Given the description of an element on the screen output the (x, y) to click on. 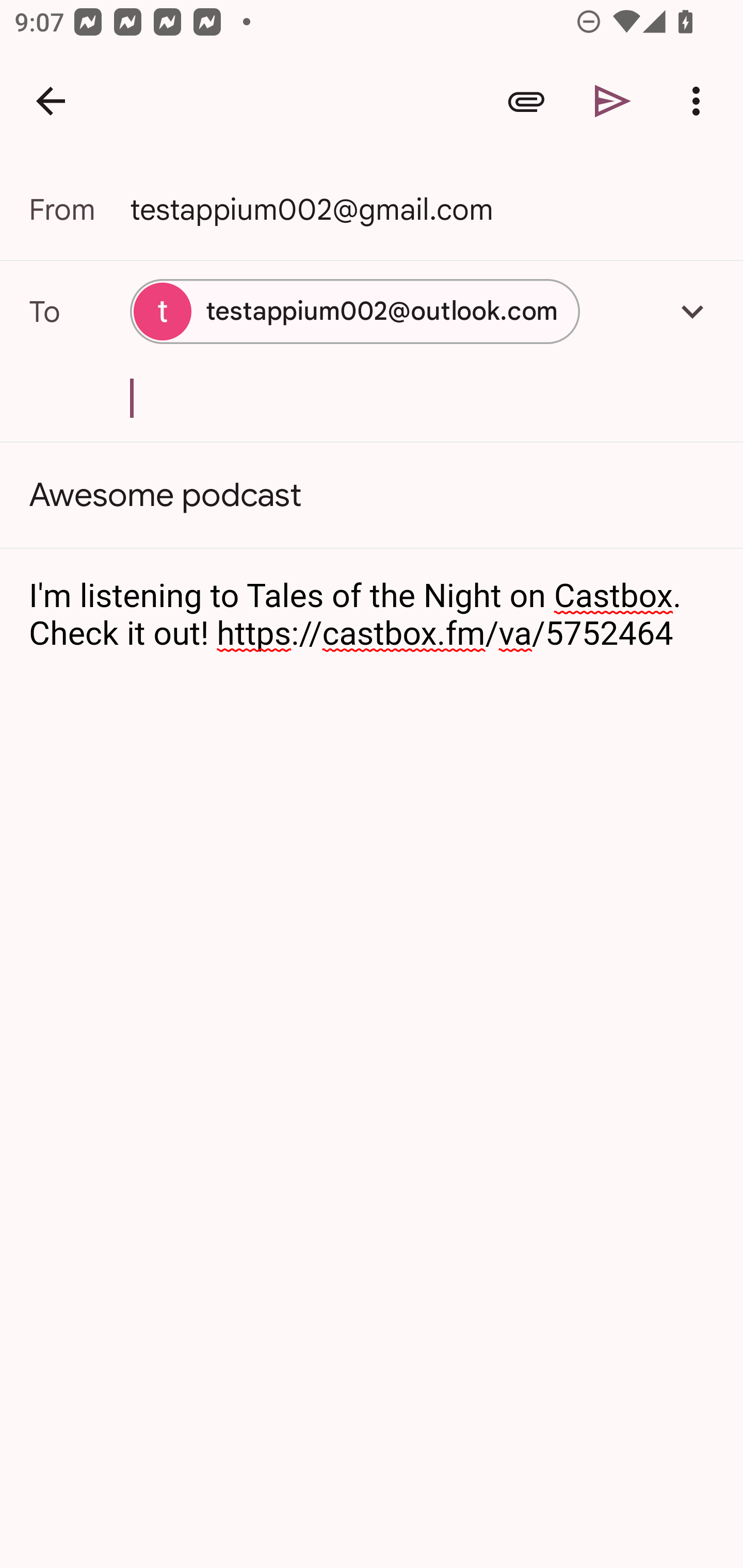
Navigate up (50, 101)
Attach file (525, 101)
Send (612, 101)
More options (699, 101)
From (79, 209)
Add Cc/Bcc (692, 311)
Awesome podcast (371, 494)
